Given the description of an element on the screen output the (x, y) to click on. 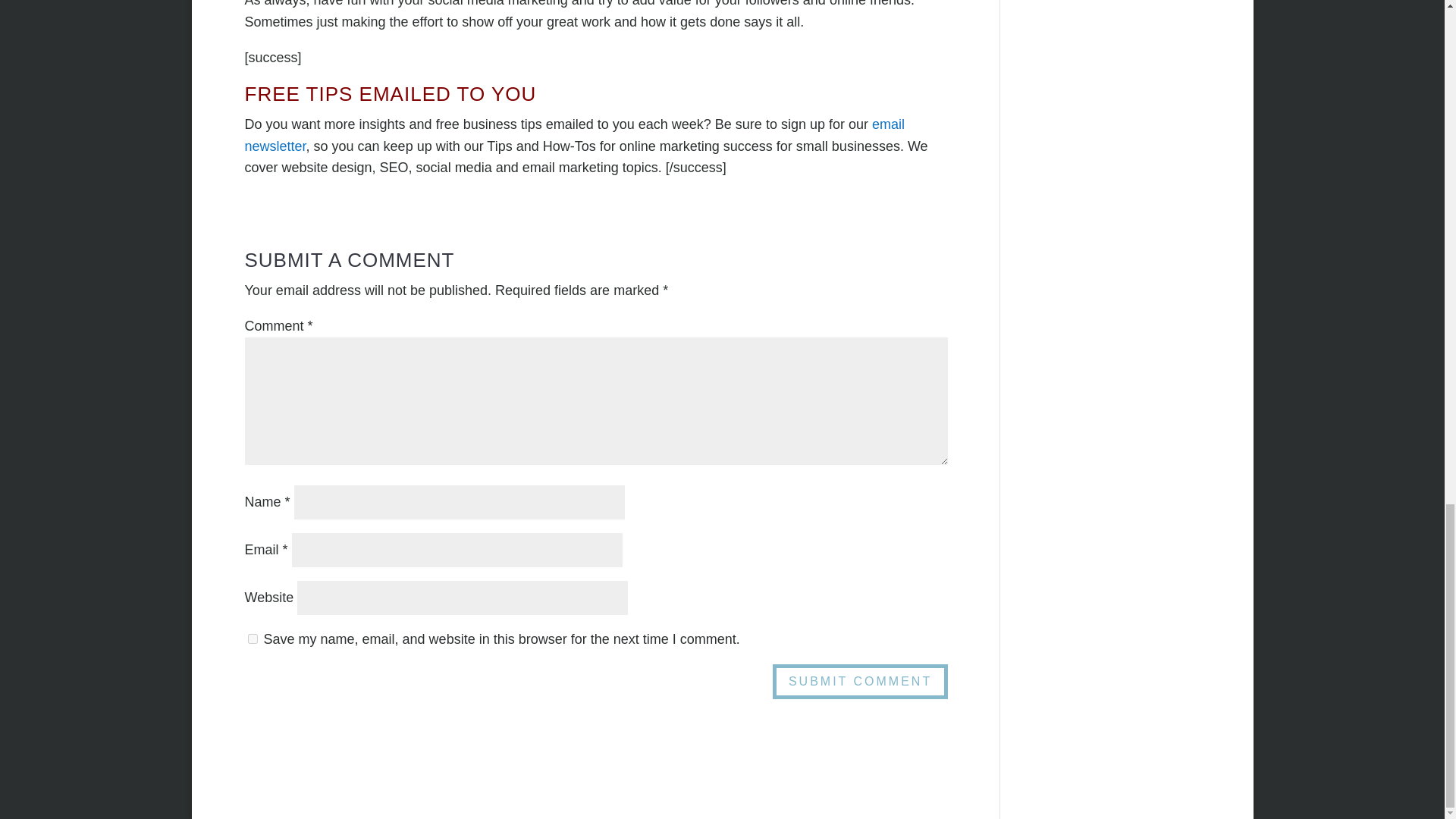
email newsletter (574, 135)
Submit Comment (860, 682)
Submit Comment (860, 682)
yes (252, 638)
